Given the description of an element on the screen output the (x, y) to click on. 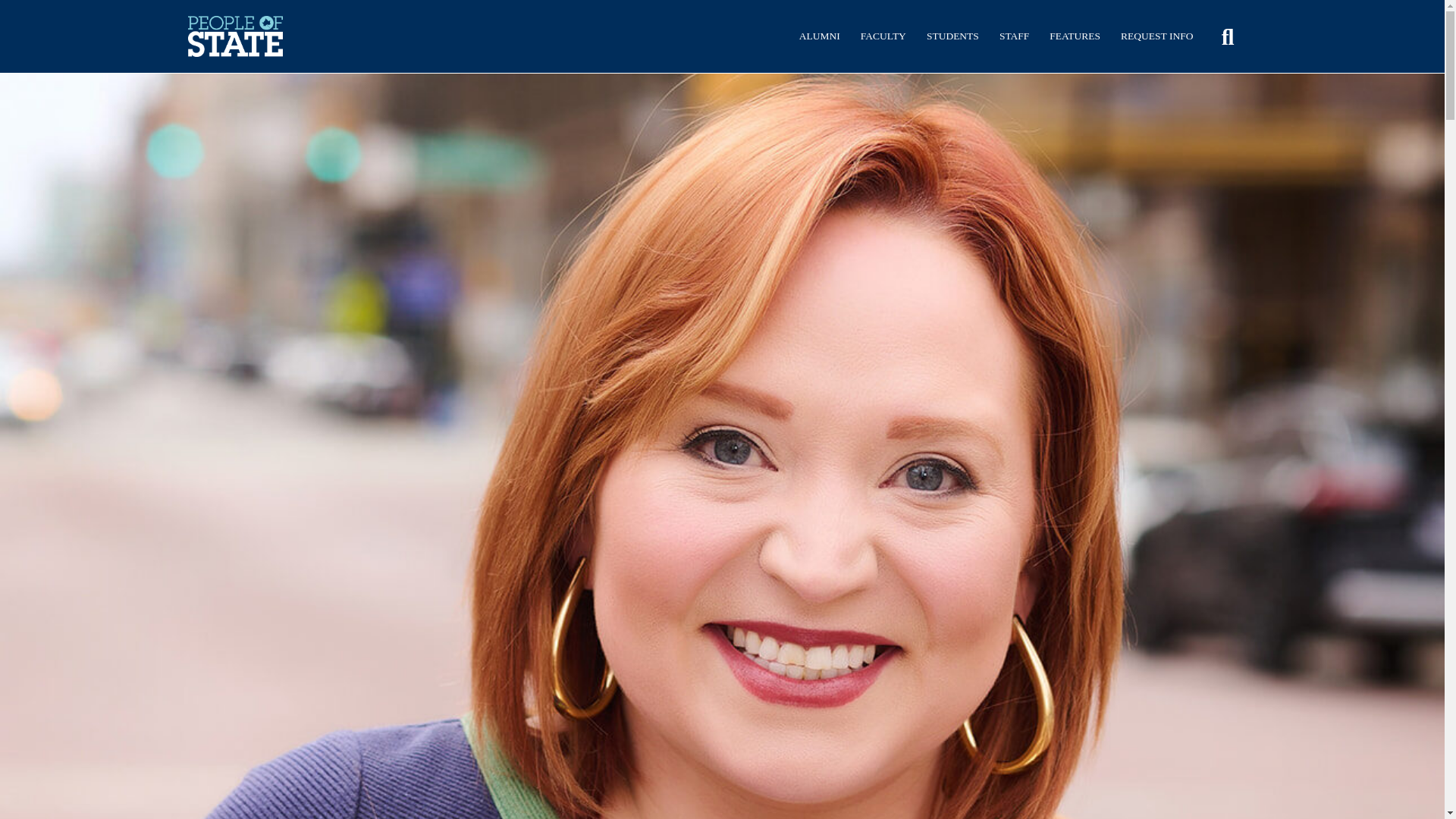
ALUMNI (819, 35)
STUDENTS (952, 35)
FEATURES (1074, 35)
REQUEST INFO (1156, 35)
FACULTY (882, 35)
STAFF (1013, 35)
